Given the description of an element on the screen output the (x, y) to click on. 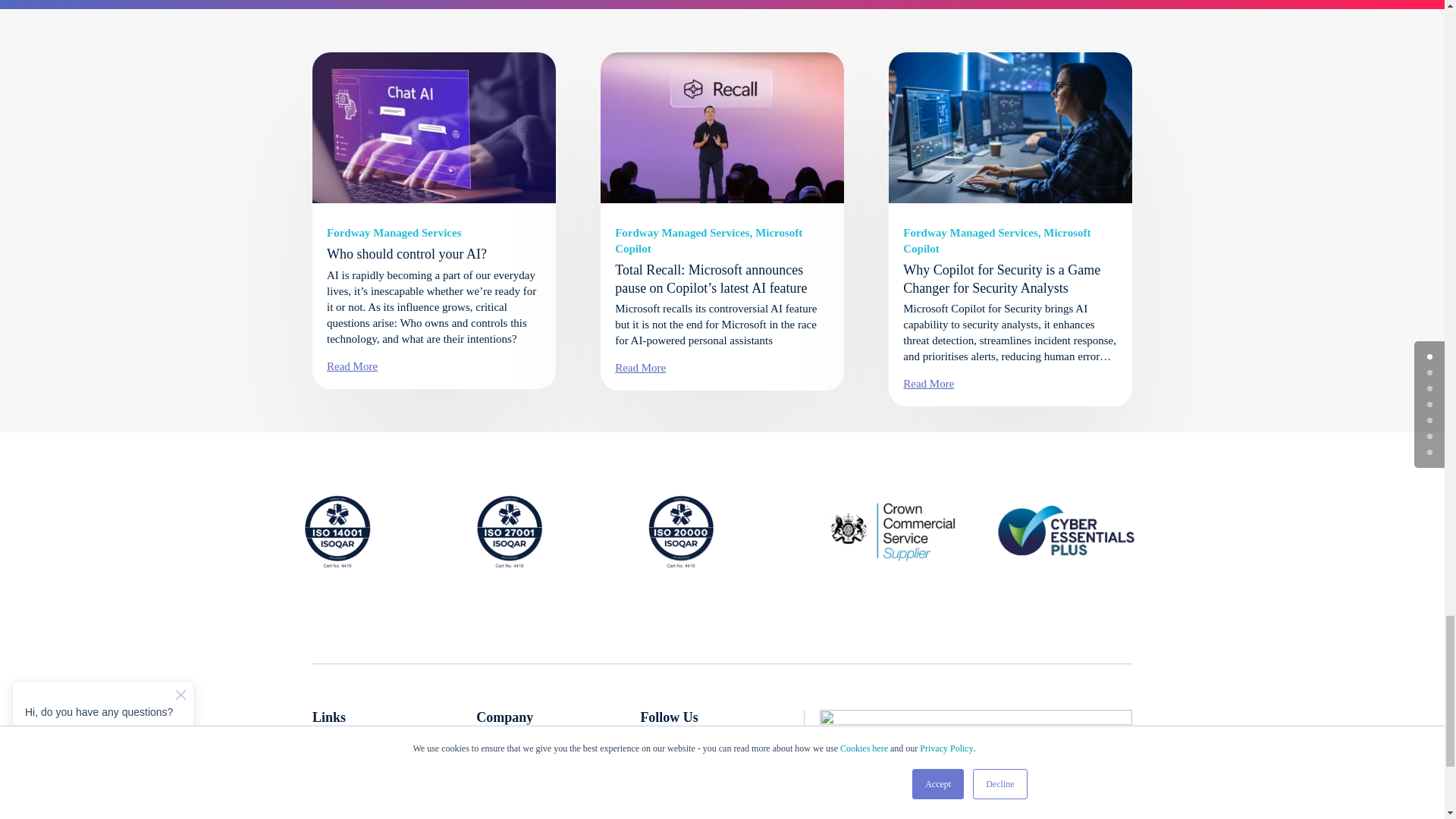
Read More (639, 367)
Read More (351, 365)
Who should control your AI? (406, 253)
Fordway Managed Services (393, 232)
Microsoft Copilot (708, 240)
Fordway Managed Services (969, 232)
Fordway Managed Services (681, 232)
